Given the description of an element on the screen output the (x, y) to click on. 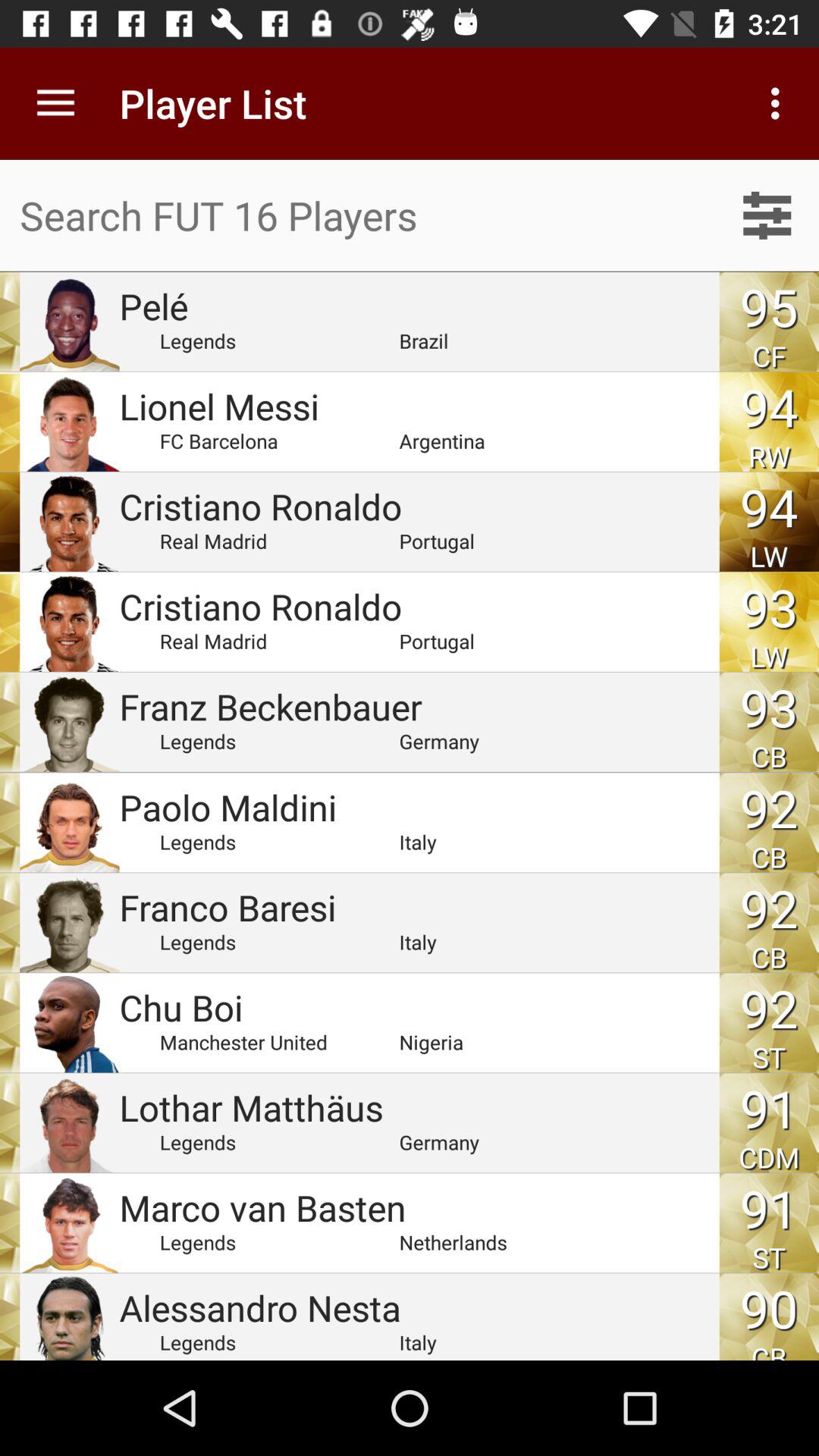
search bar (357, 215)
